Given the description of an element on the screen output the (x, y) to click on. 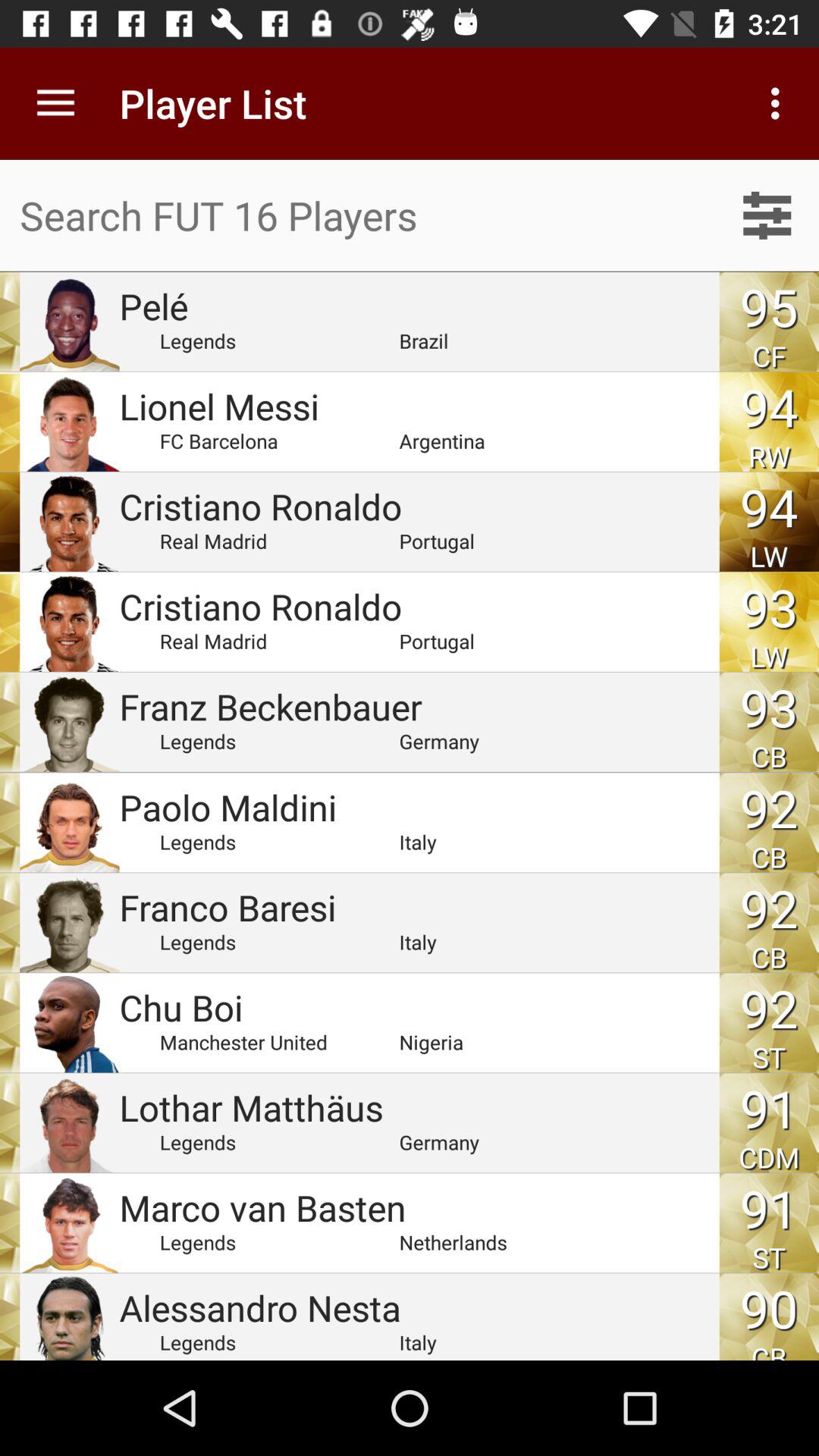
search bar (357, 215)
